Given the description of an element on the screen output the (x, y) to click on. 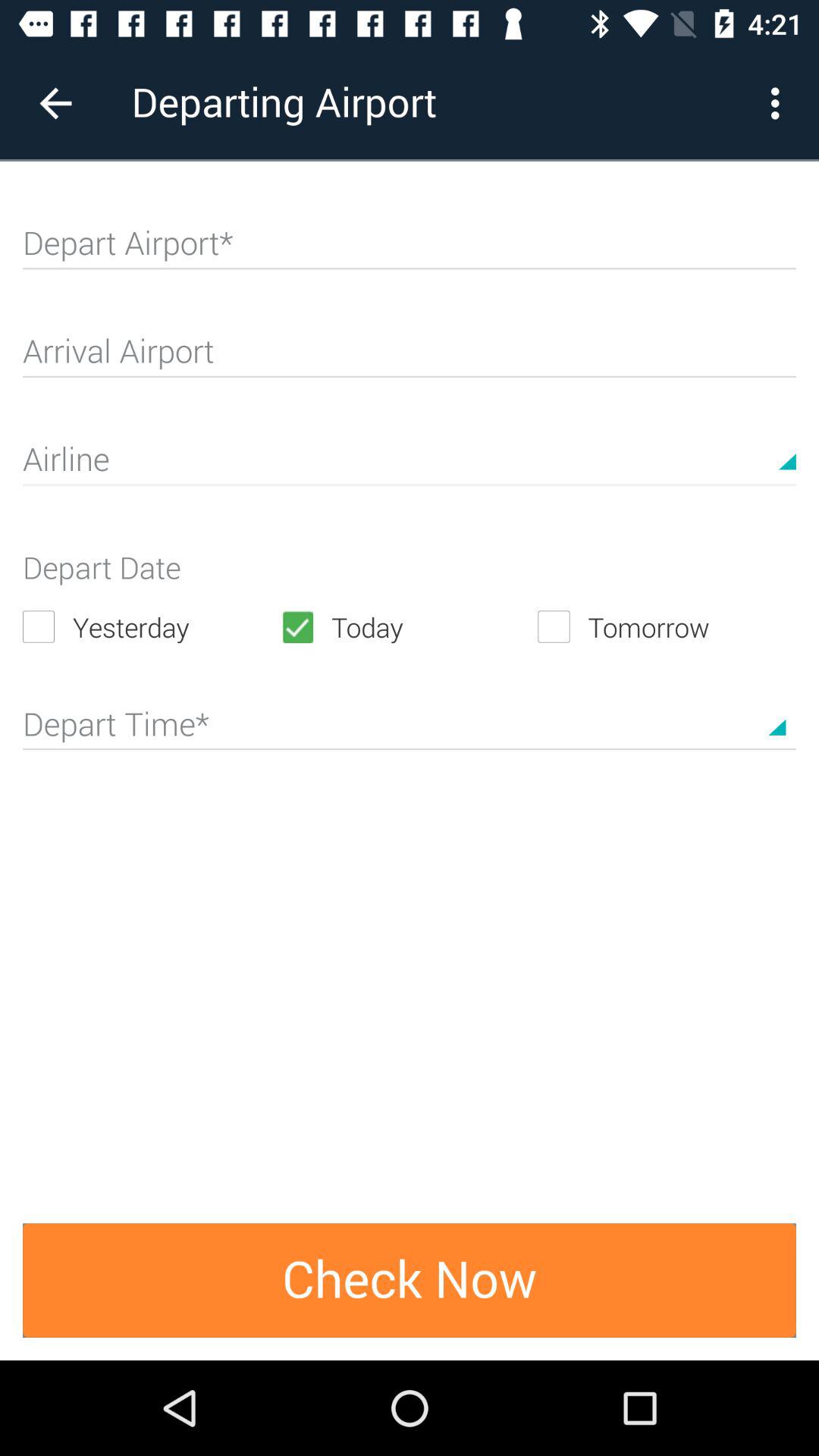
enter arrival airport (409, 357)
